Given the description of an element on the screen output the (x, y) to click on. 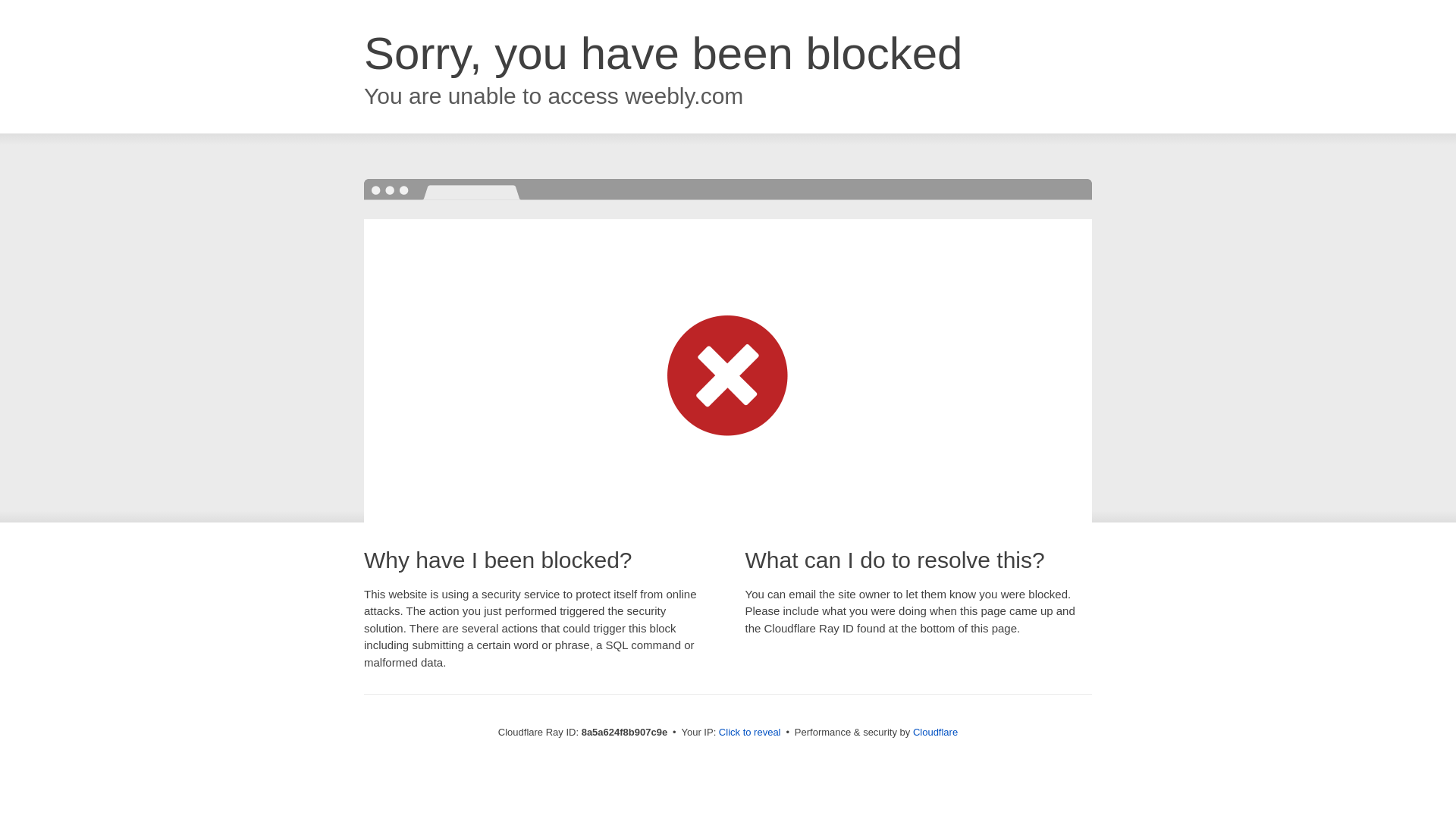
Click to reveal (749, 732)
Cloudflare (935, 731)
